Given the description of an element on the screen output the (x, y) to click on. 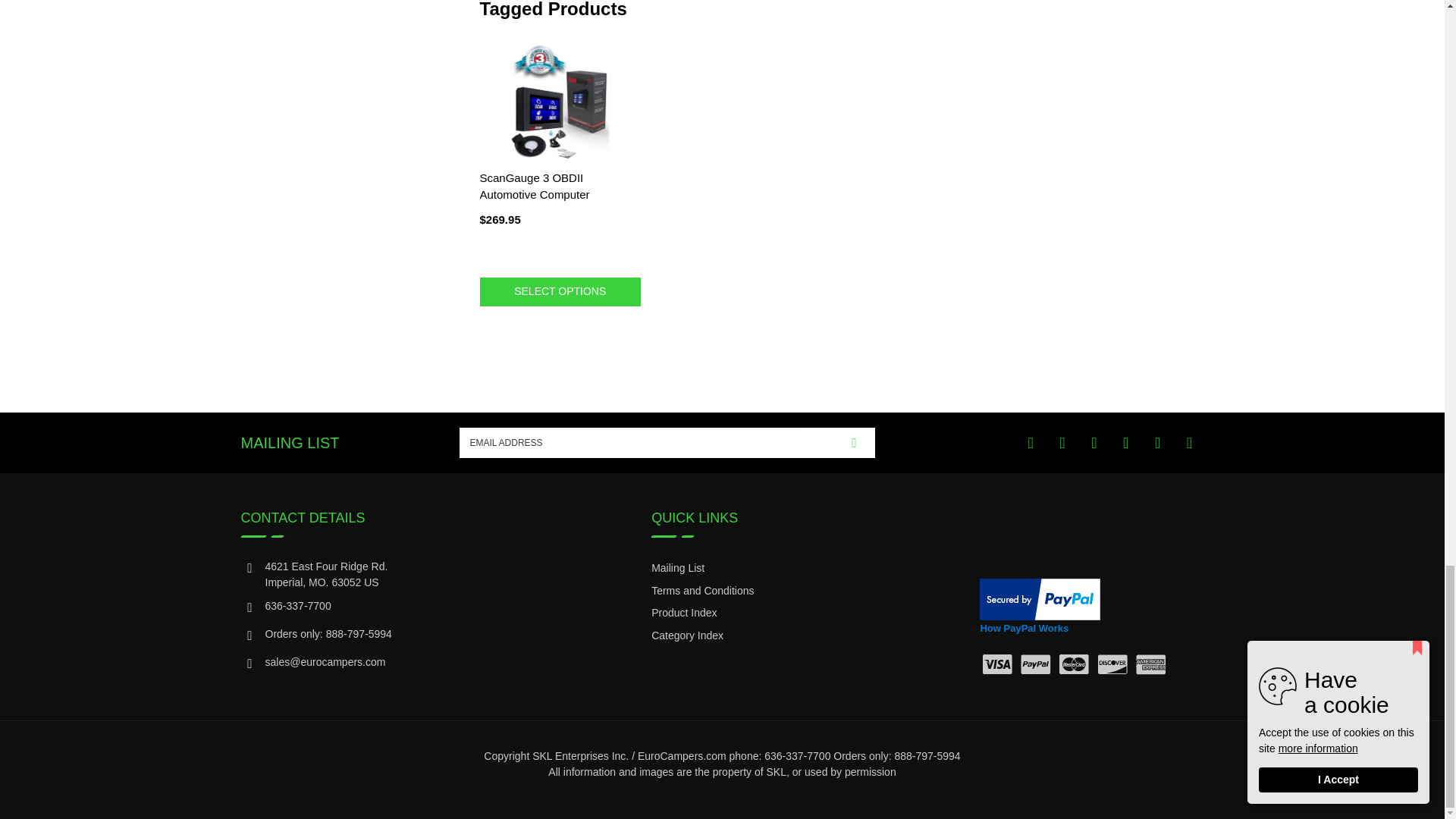
How PayPal Works (1039, 598)
